Given the description of an element on the screen output the (x, y) to click on. 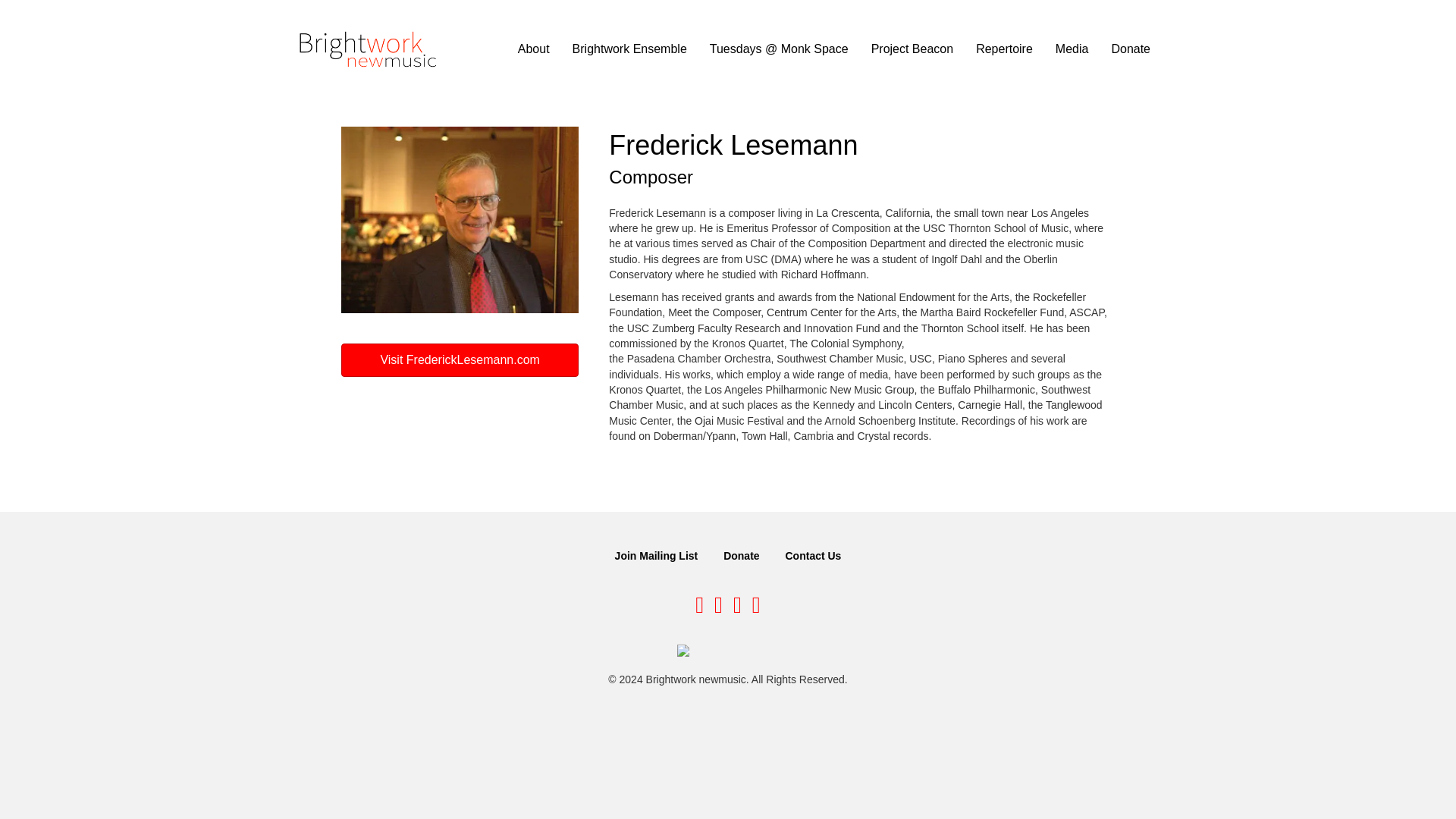
BrightworkLogo2 (369, 49)
Brightwork Ensemble (629, 49)
Project Beacon (911, 49)
Repertoire (1004, 49)
About (534, 49)
Media (1072, 49)
Visit FrederickLesemann.com (459, 359)
Contact Us (812, 555)
Headshot (459, 219)
Join Mailing List (656, 555)
Donate (1130, 49)
Donate (741, 555)
